Given the description of an element on the screen output the (x, y) to click on. 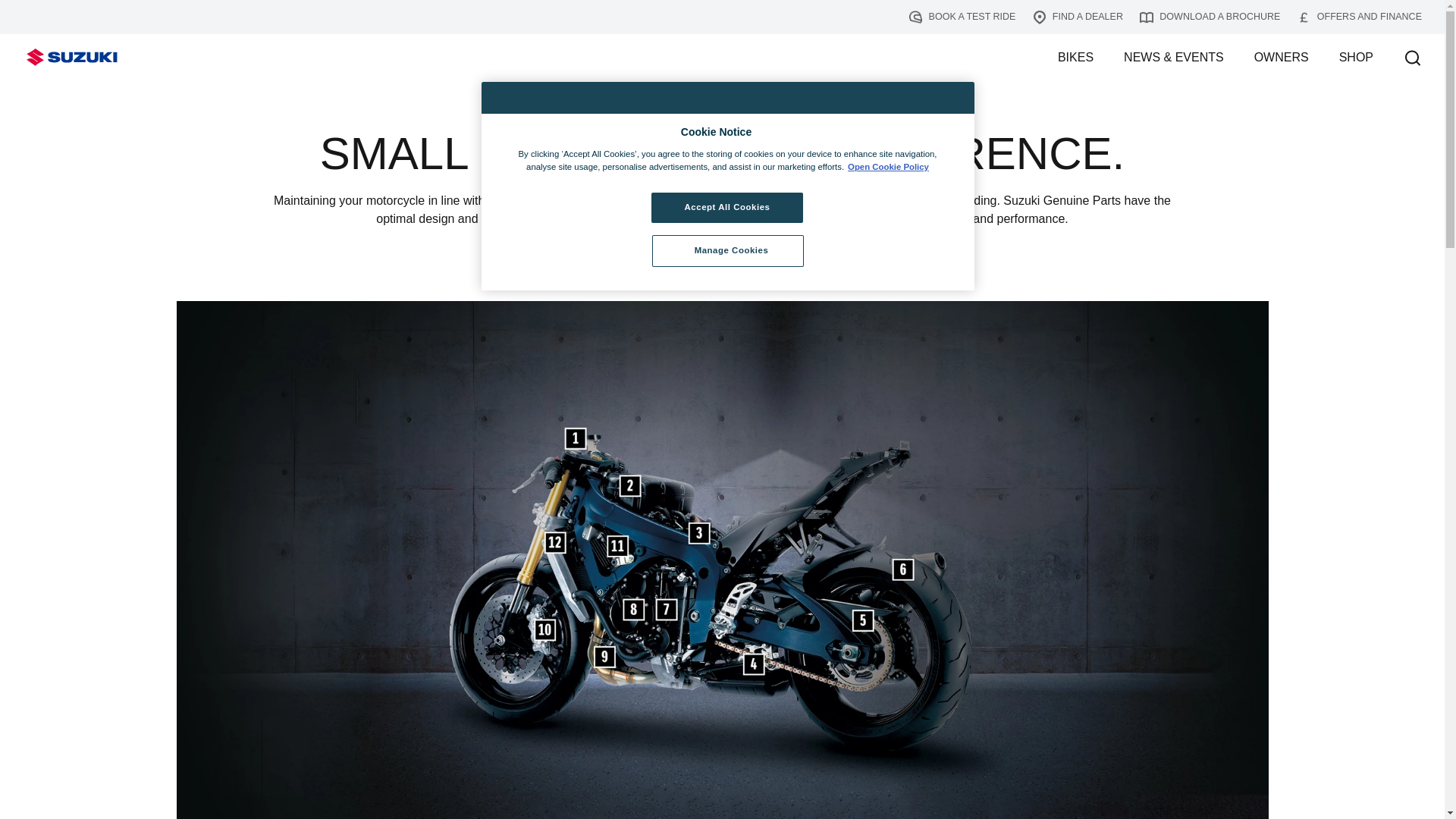
FIND A DEALER (1077, 17)
DOWNLOAD A BROCHURE (1209, 17)
OFFERS AND FINANCE (1359, 17)
BOOK A TEST RIDE (962, 17)
